Given the description of an element on the screen output the (x, y) to click on. 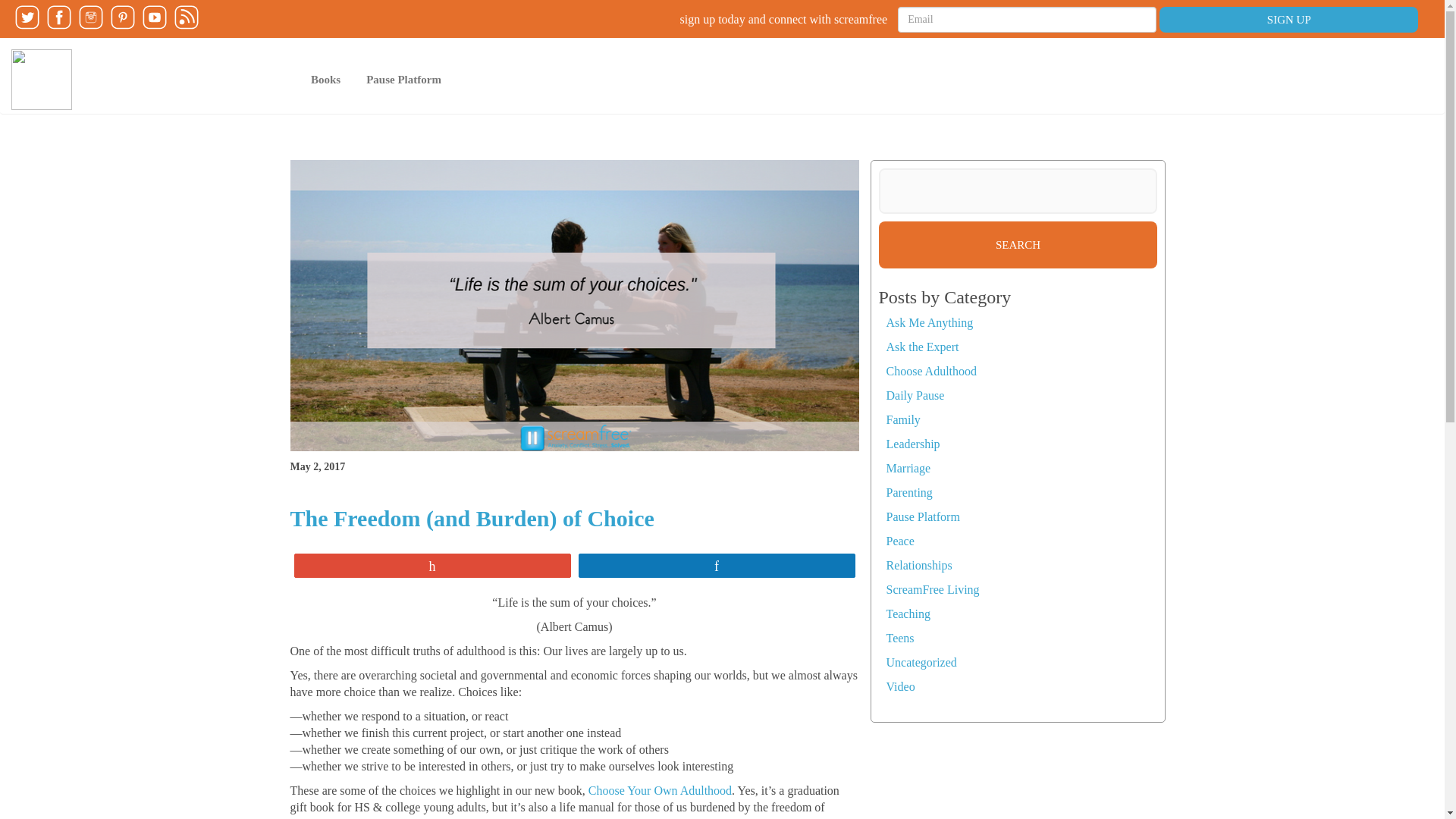
Books (325, 79)
Pause Platform (922, 516)
ScreamFree Living (931, 589)
Parenting (908, 492)
Relationships (918, 564)
Teens (899, 637)
Leadership (912, 443)
Daily Pause (914, 395)
Search (1017, 244)
Pause Platform (403, 79)
Ask the Expert (921, 346)
Pause Platform (403, 79)
Family (902, 419)
Choose Adulthood (930, 370)
SIGN UP (1288, 19)
